Given the description of an element on the screen output the (x, y) to click on. 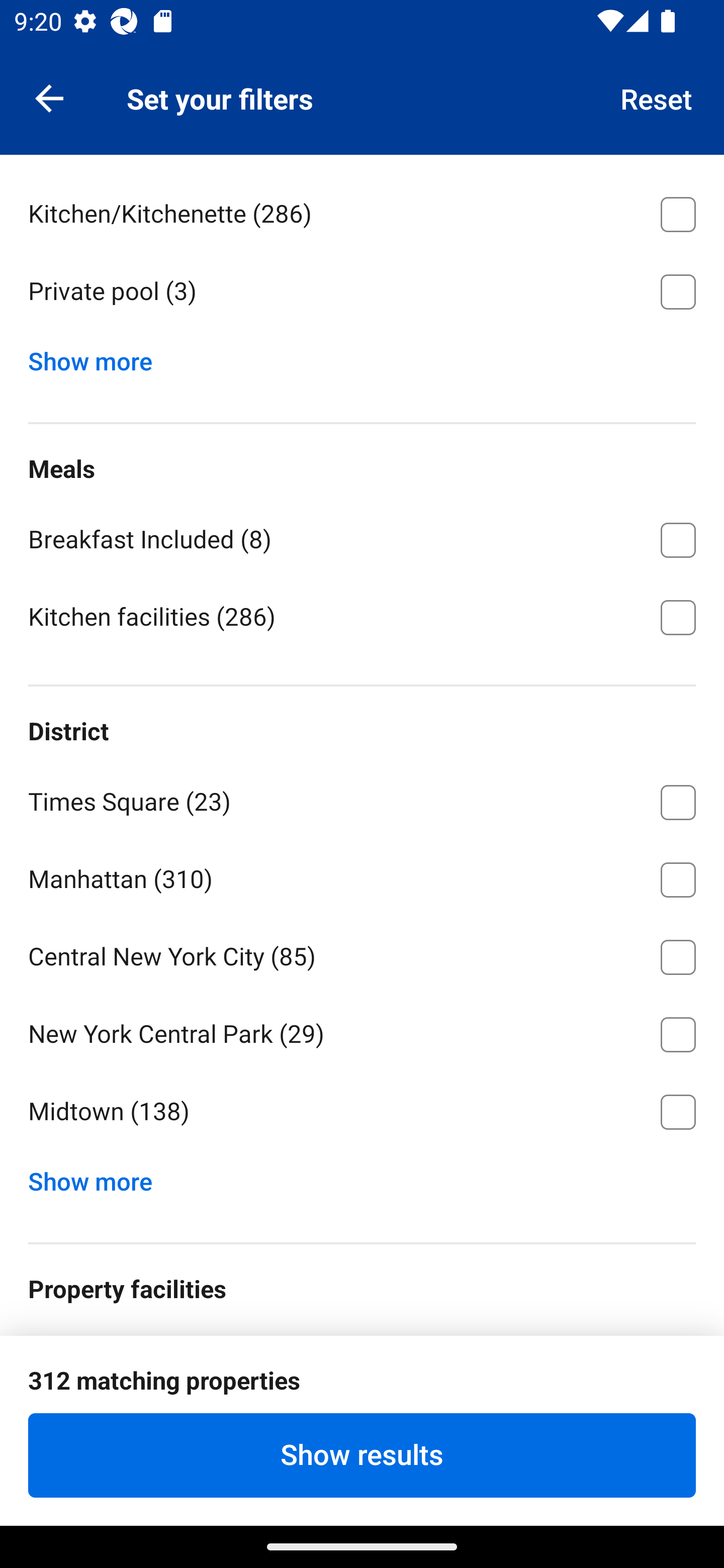
Navigate up (49, 97)
Reset (656, 97)
Kitchen/Kitchenette ⁦(286) (361, 210)
Private pool ⁦(3) (361, 291)
Show more (97, 356)
Breakfast Included ⁦(8) (361, 536)
Kitchen facilities ⁦(286) (361, 615)
Times Square ⁦(23) (361, 798)
Manhattan ⁦(310) (361, 876)
Central New York City ⁦(85) (361, 953)
New York Central Park ⁦(29) (361, 1030)
Midtown ⁦(138) (361, 1111)
Show more (97, 1176)
Show results (361, 1454)
